Given the description of an element on the screen output the (x, y) to click on. 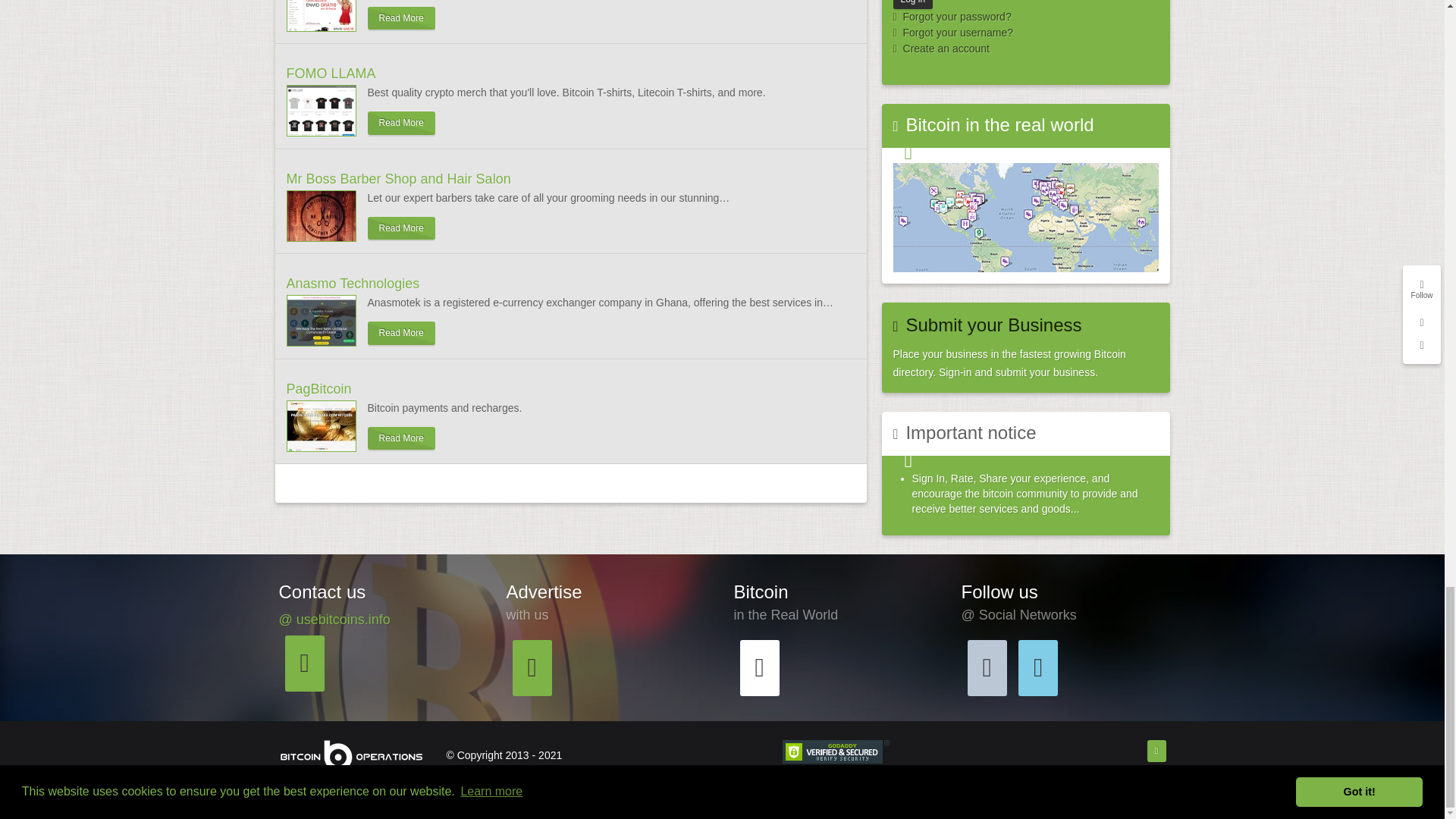
Log in (913, 4)
